Given the description of an element on the screen output the (x, y) to click on. 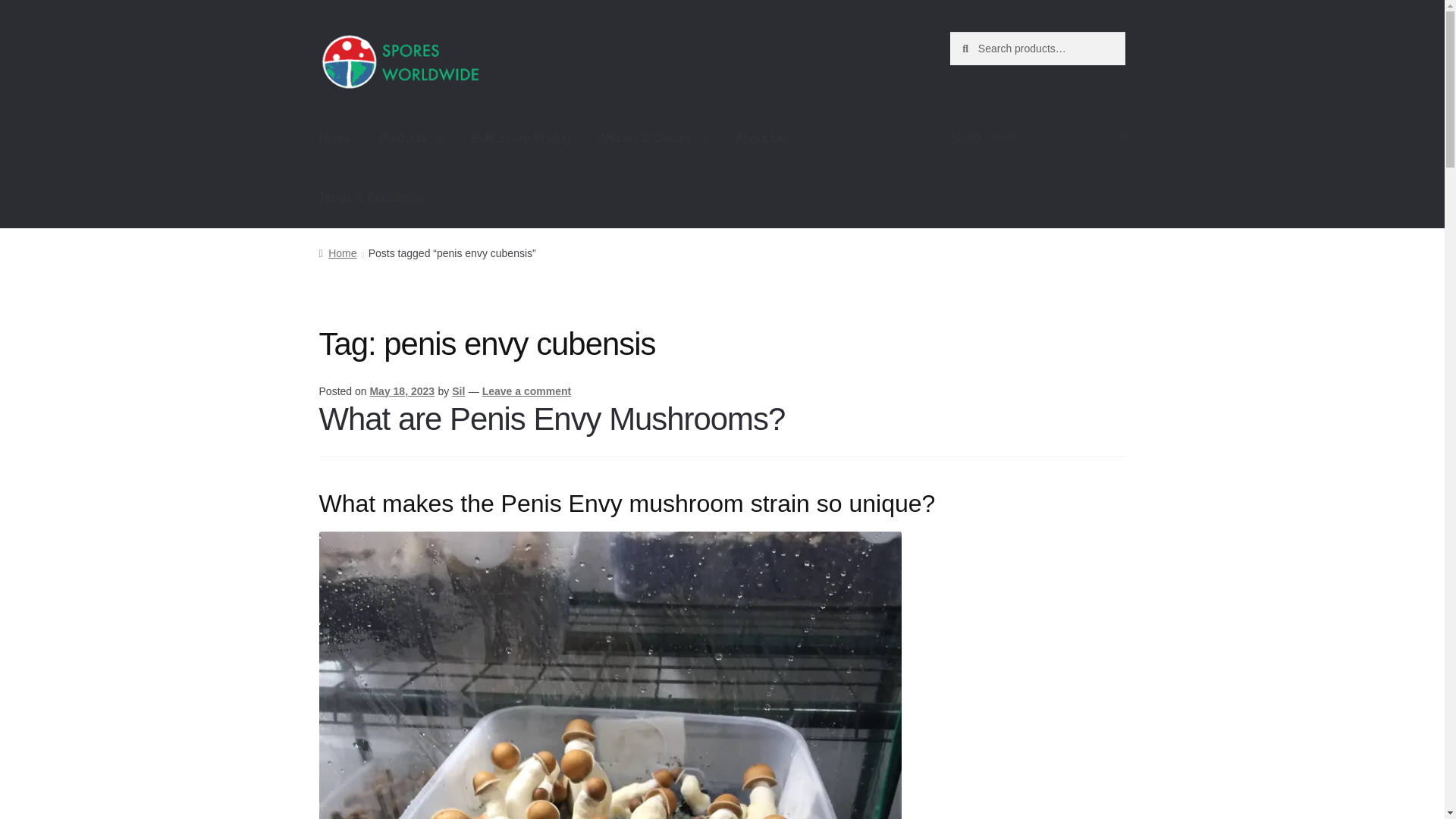
About Us (760, 138)
View your shopping cart (1037, 138)
Home (335, 138)
Bulk Spore Pricing (520, 138)
Products (410, 138)
